Given the description of an element on the screen output the (x, y) to click on. 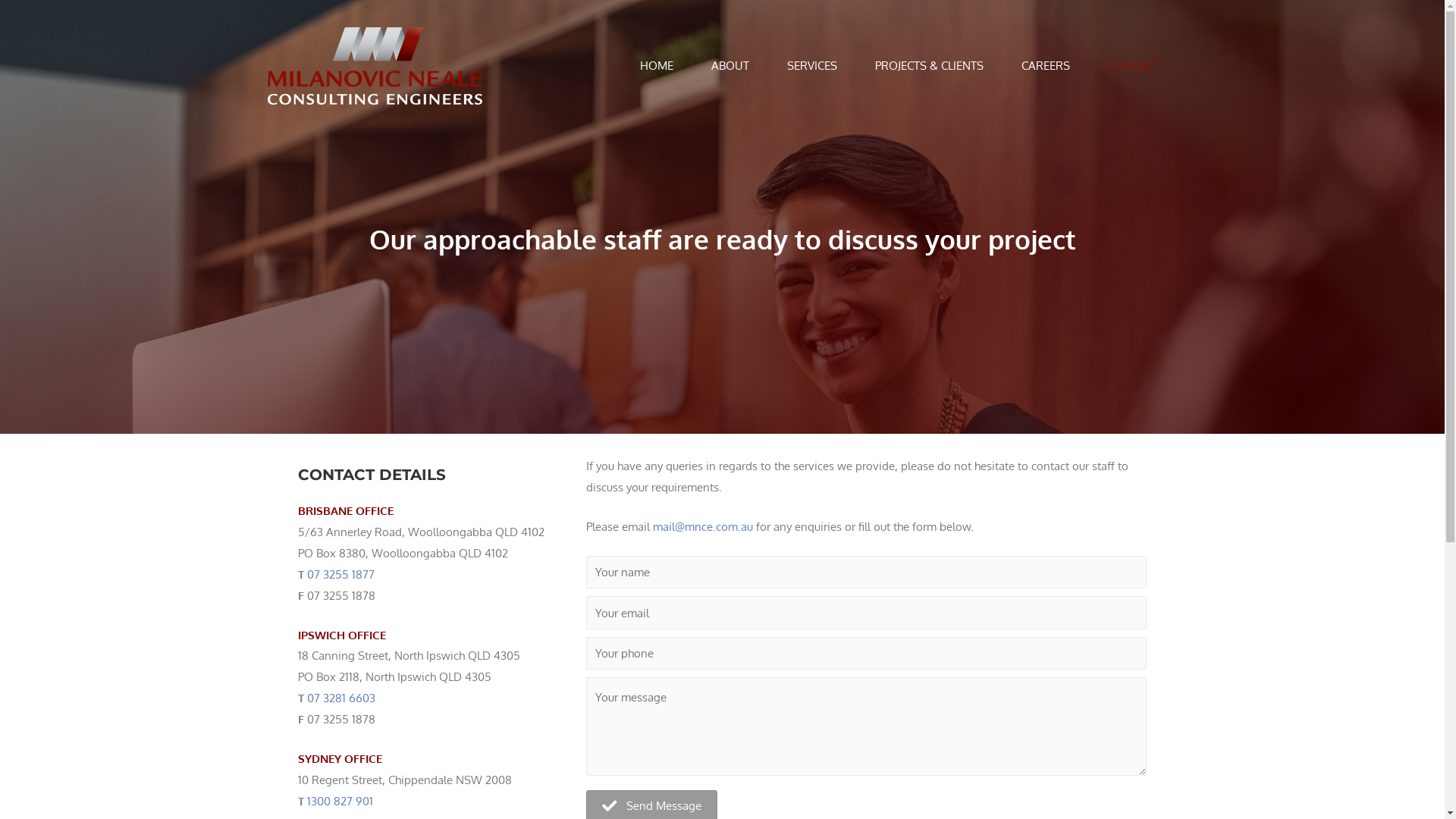
CAREERS Element type: text (1045, 65)
ABOUT Element type: text (729, 65)
07 3255 1877 Element type: text (339, 574)
PROJECTS & CLIENTS Element type: text (928, 65)
07 3281 6603 Element type: text (340, 697)
HOME Element type: text (655, 65)
CONTACT Element type: text (1132, 65)
SERVICES Element type: text (811, 65)
mail@mnce.com.au Element type: text (702, 526)
1300 827 901 Element type: text (339, 800)
